Given the description of an element on the screen output the (x, y) to click on. 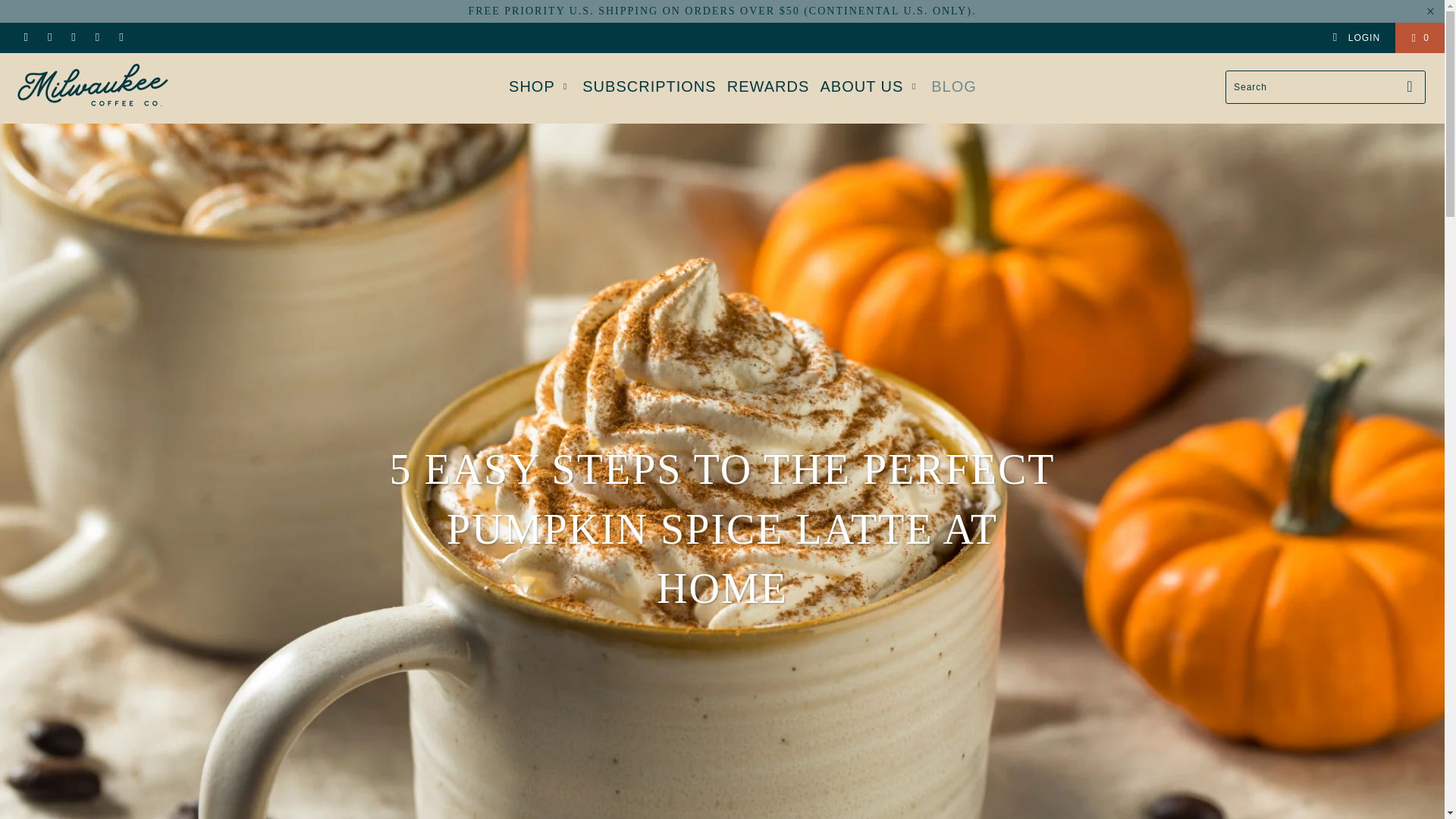
Milwaukee Coffee Co. on Facebook (48, 37)
BLOG (953, 86)
SHOP (540, 85)
SUBSCRIPTIONS (649, 86)
Milwaukee Coffee Co. on Pinterest (73, 37)
Milwaukee Coffee Co. on Twitter (25, 37)
REWARDS (767, 86)
Milwaukee Coffee Co. (137, 88)
Milwaukee Coffee Co. on Instagram (96, 37)
My Account  (1355, 37)
Email Milwaukee Coffee Co. (121, 37)
ABOUT US (869, 85)
LOGIN (1355, 37)
